Given the description of an element on the screen output the (x, y) to click on. 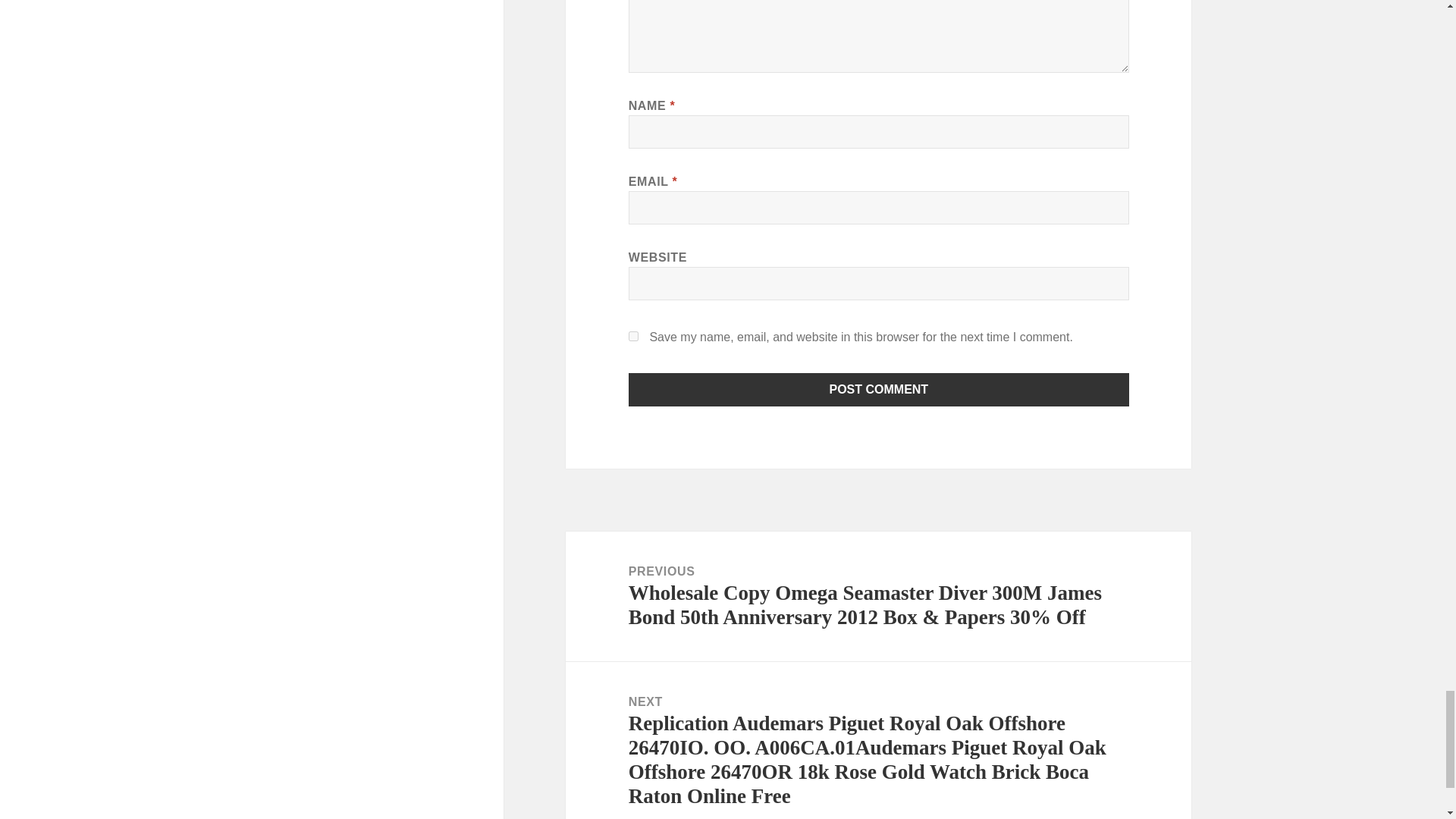
yes (633, 336)
Post Comment (878, 389)
